Given the description of an element on the screen output the (x, y) to click on. 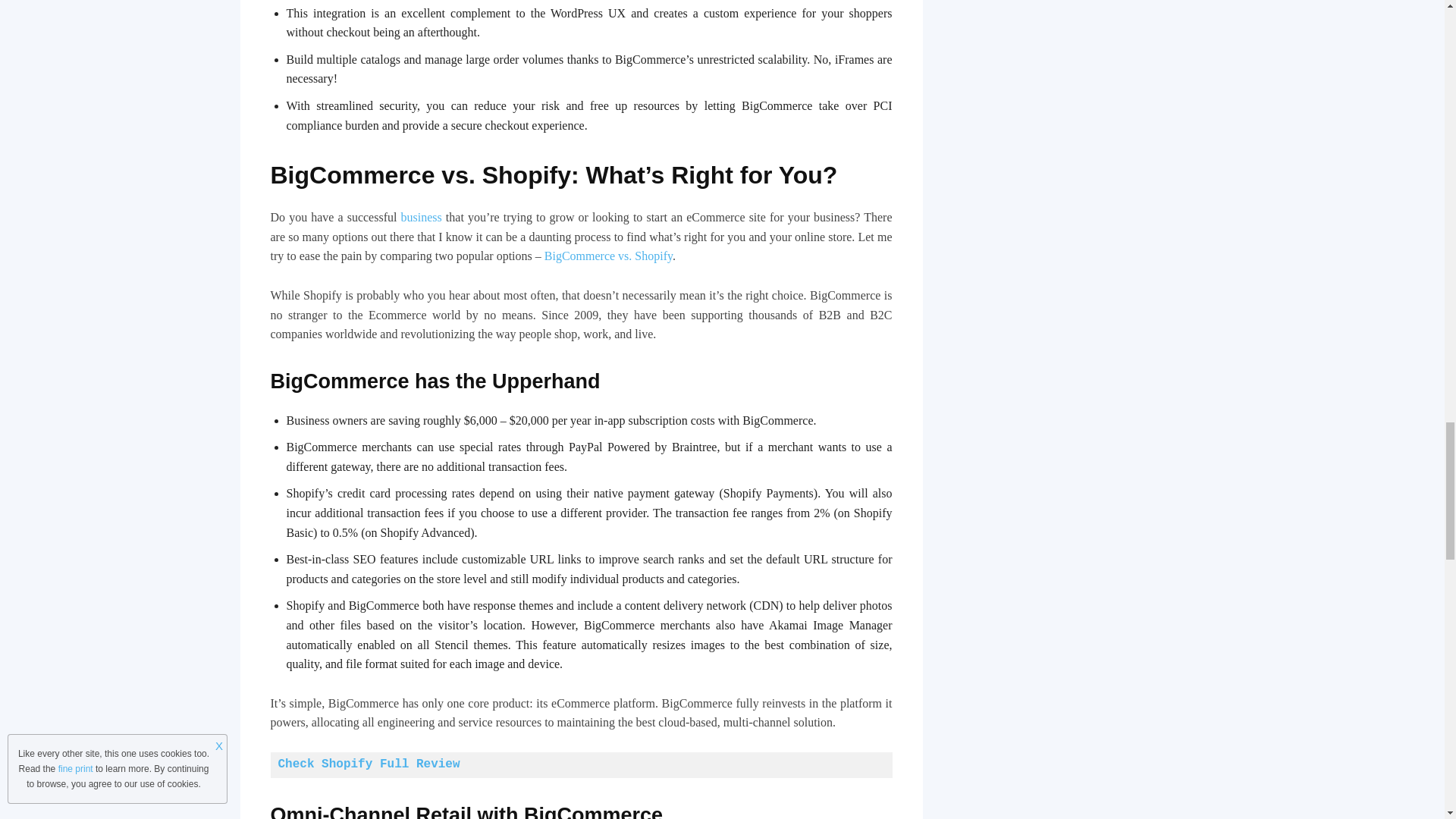
business (421, 216)
Check Shopify Full Review (369, 764)
BigCommerce vs. Shopify (608, 255)
